Given the description of an element on the screen output the (x, y) to click on. 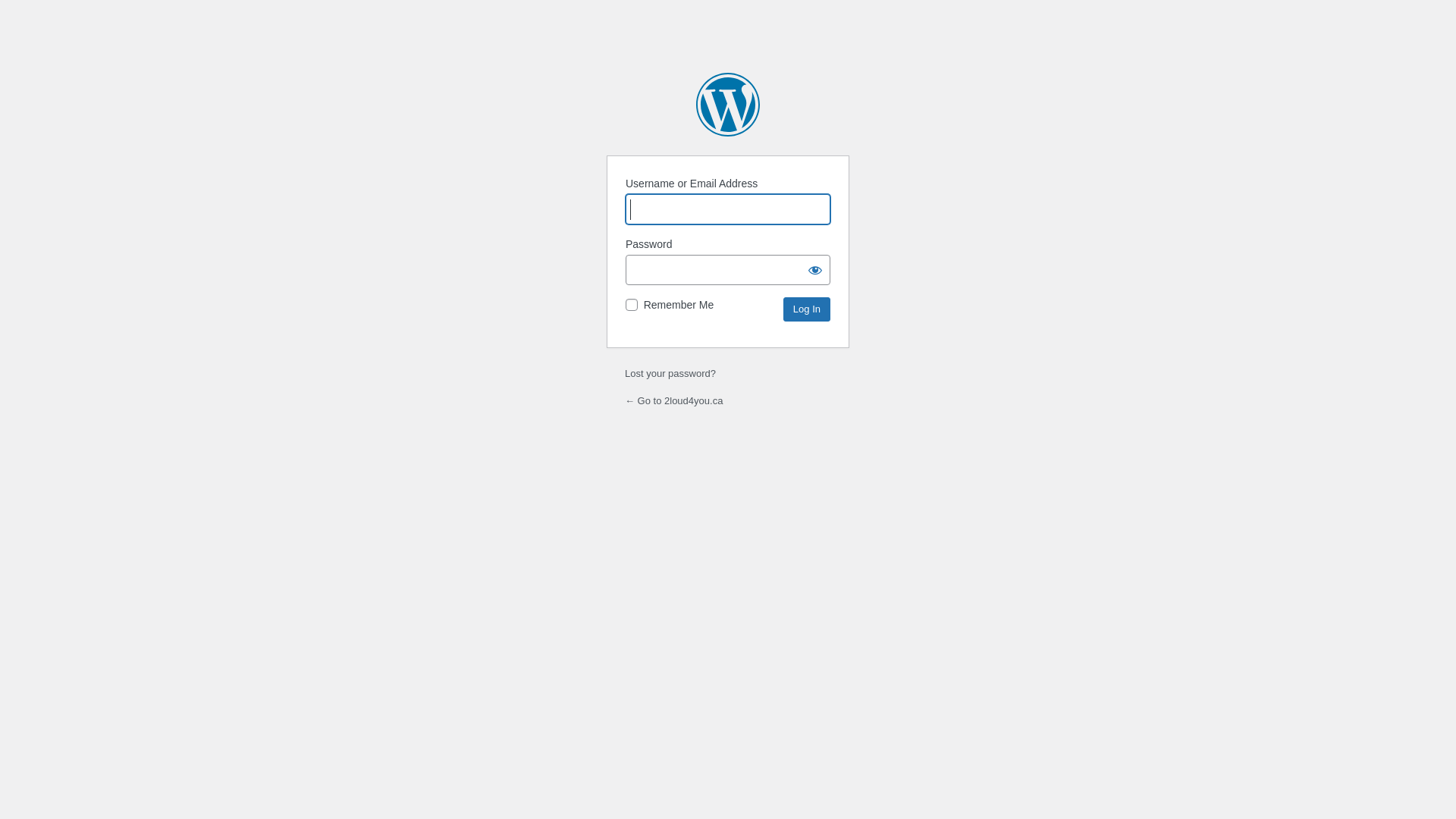
Lost your password? Element type: text (669, 373)
Powered by WordPress Element type: text (727, 104)
Log In Element type: text (806, 309)
